Given the description of an element on the screen output the (x, y) to click on. 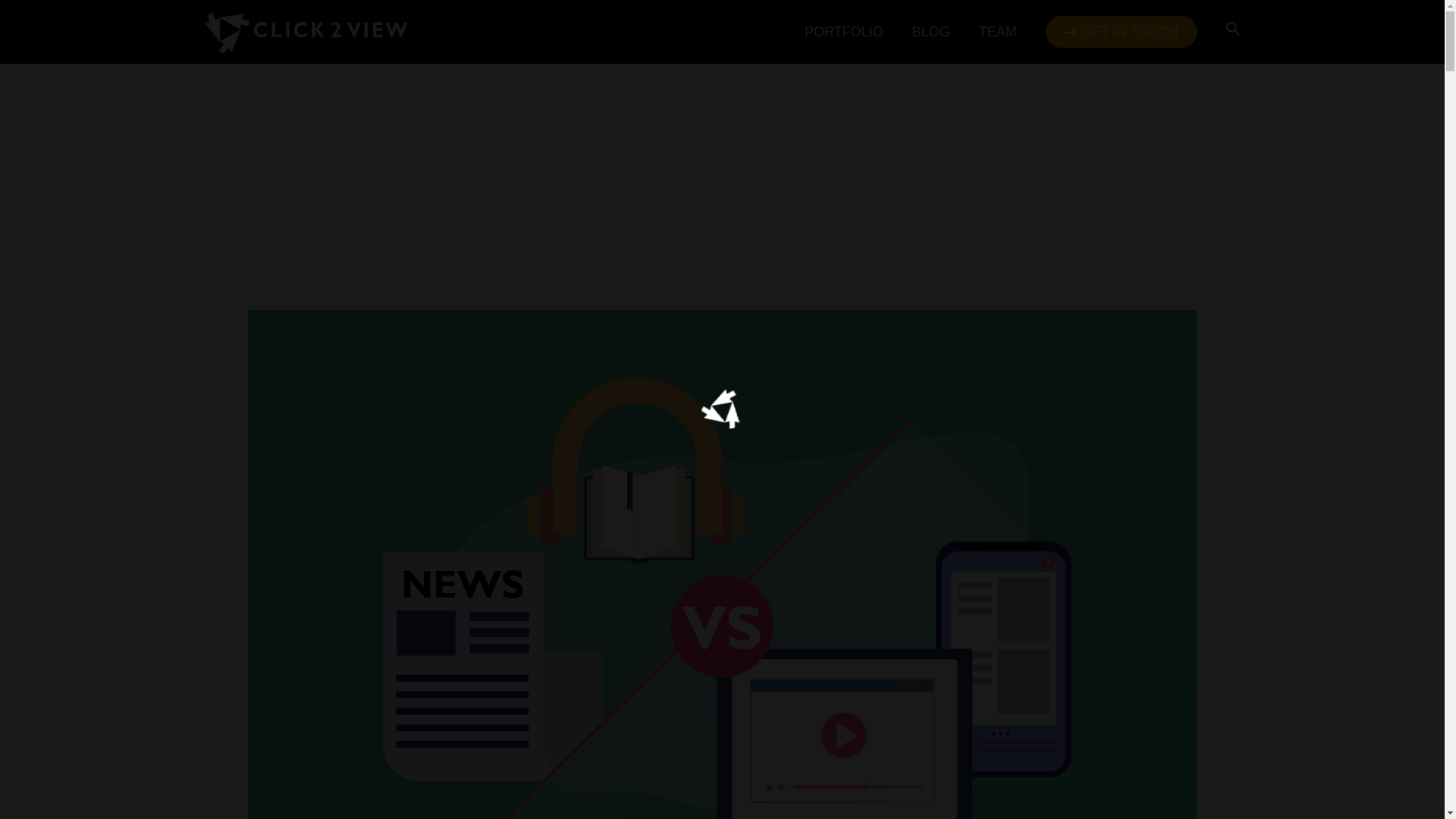
PORTFOLIO (844, 31)
Blog (931, 31)
TEAM (997, 31)
GET IN TOUCH (1120, 31)
Team (997, 31)
BLOG (931, 31)
Portfolio (844, 31)
